Given the description of an element on the screen output the (x, y) to click on. 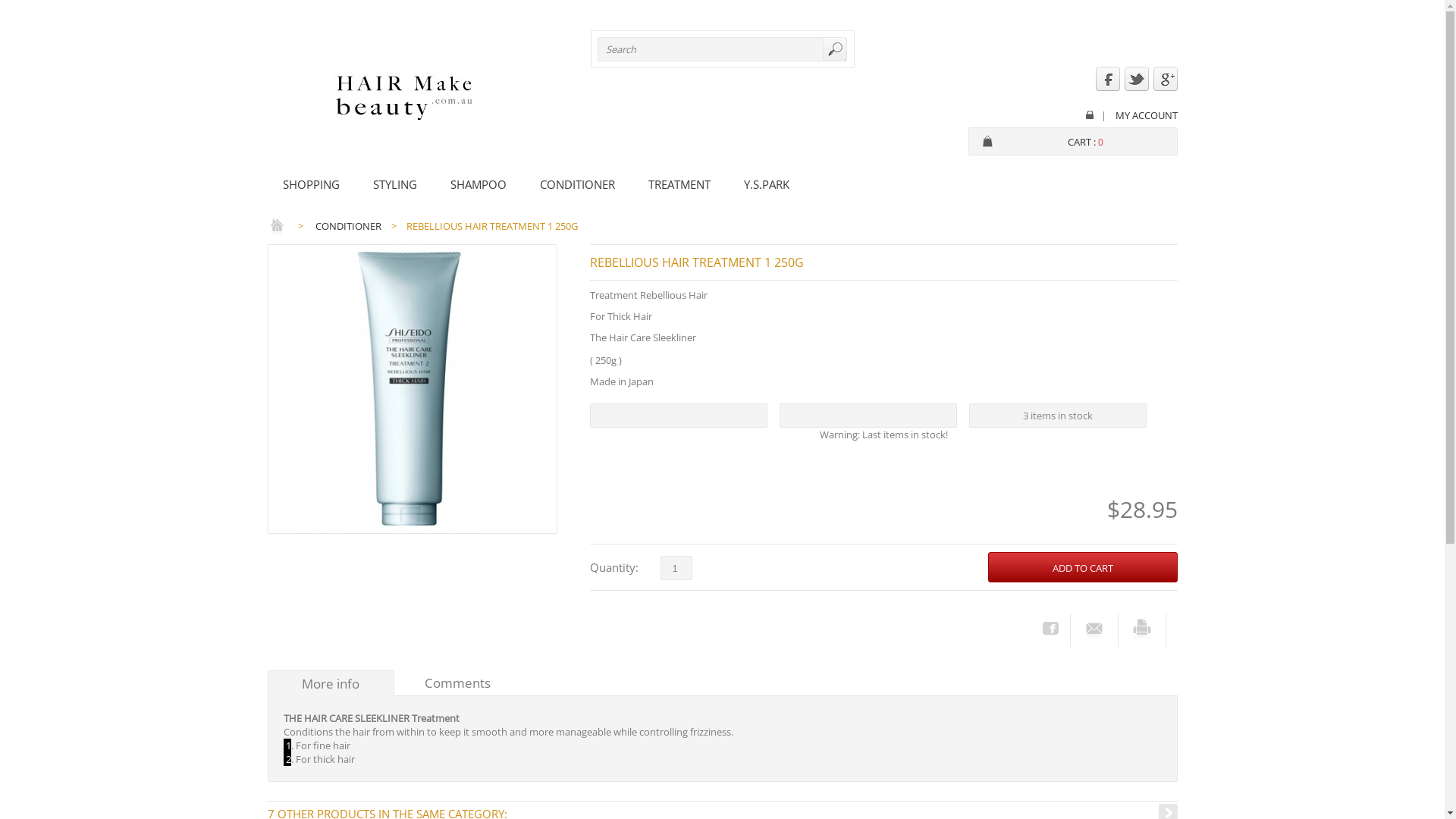
Y.S.PARK Element type: text (766, 184)
Add to cart Element type: text (1081, 567)
SHOPPING Element type: text (310, 184)
Comments Element type: text (456, 683)
Send on Twitter Element type: hover (1135, 87)
CART : 0 Element type: text (1085, 141)
Send to a friend Element type: hover (1093, 627)
Rebellious Hair Treatment 1 250g Element type: hover (411, 388)
return to Home Element type: hover (275, 225)
Send on Facebook Element type: hover (1107, 87)
SHAMPOO Element type: text (479, 184)
More info Element type: text (329, 683)
STYLING Element type: text (395, 184)
Share on Facebook Element type: hover (1049, 627)
TREATMENT Element type: text (679, 184)
CONDITIONER Element type: text (577, 184)
Print Element type: hover (1141, 629)
MY ACCOUNT Element type: text (1141, 115)
Send on Google Element type: hover (1164, 87)
Login Element type: hover (1089, 115)
HAIRMakebeauty Element type: hover (402, 97)
CONDITIONER Element type: text (348, 225)
